Given the description of an element on the screen output the (x, y) to click on. 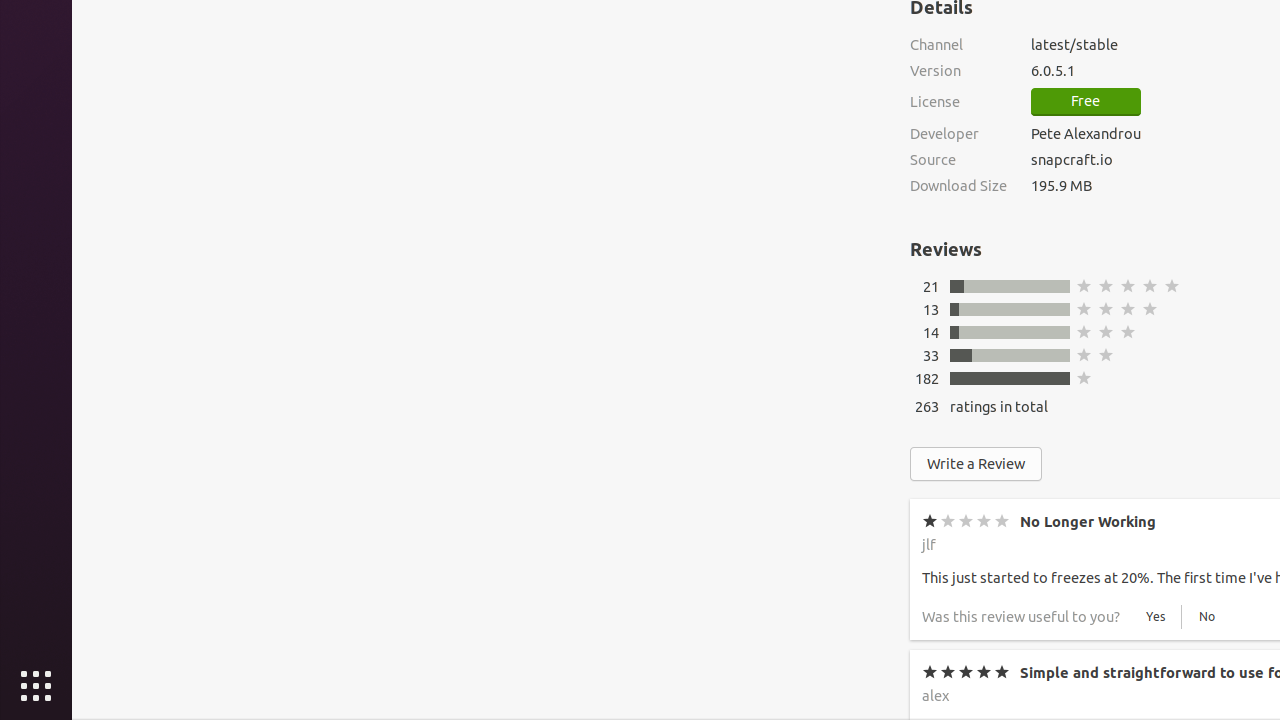
License Element type: label (958, 102)
14 Element type: label (931, 332)
